Given the description of an element on the screen output the (x, y) to click on. 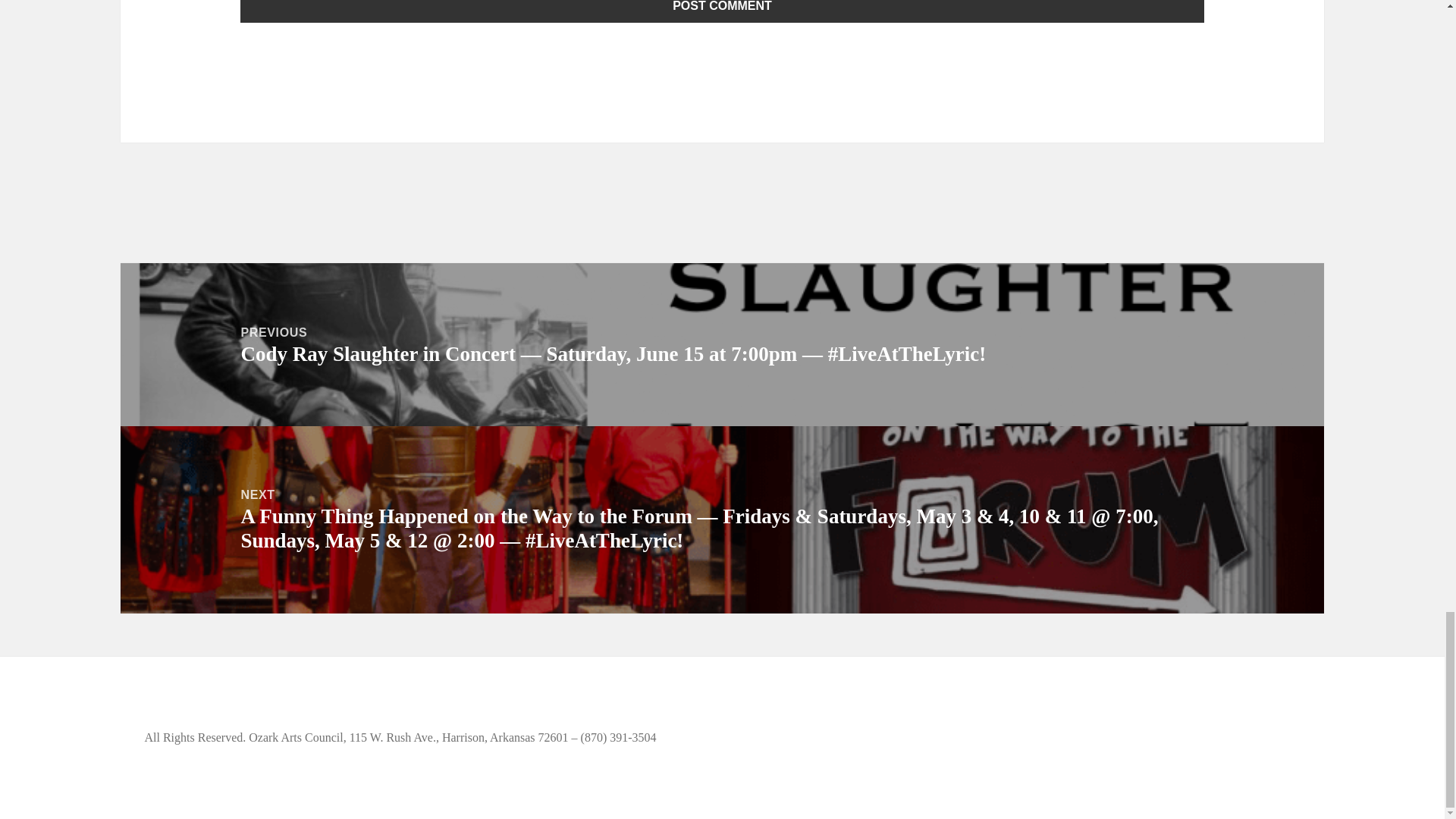
Post Comment (722, 11)
Post Comment (722, 11)
